Given the description of an element on the screen output the (x, y) to click on. 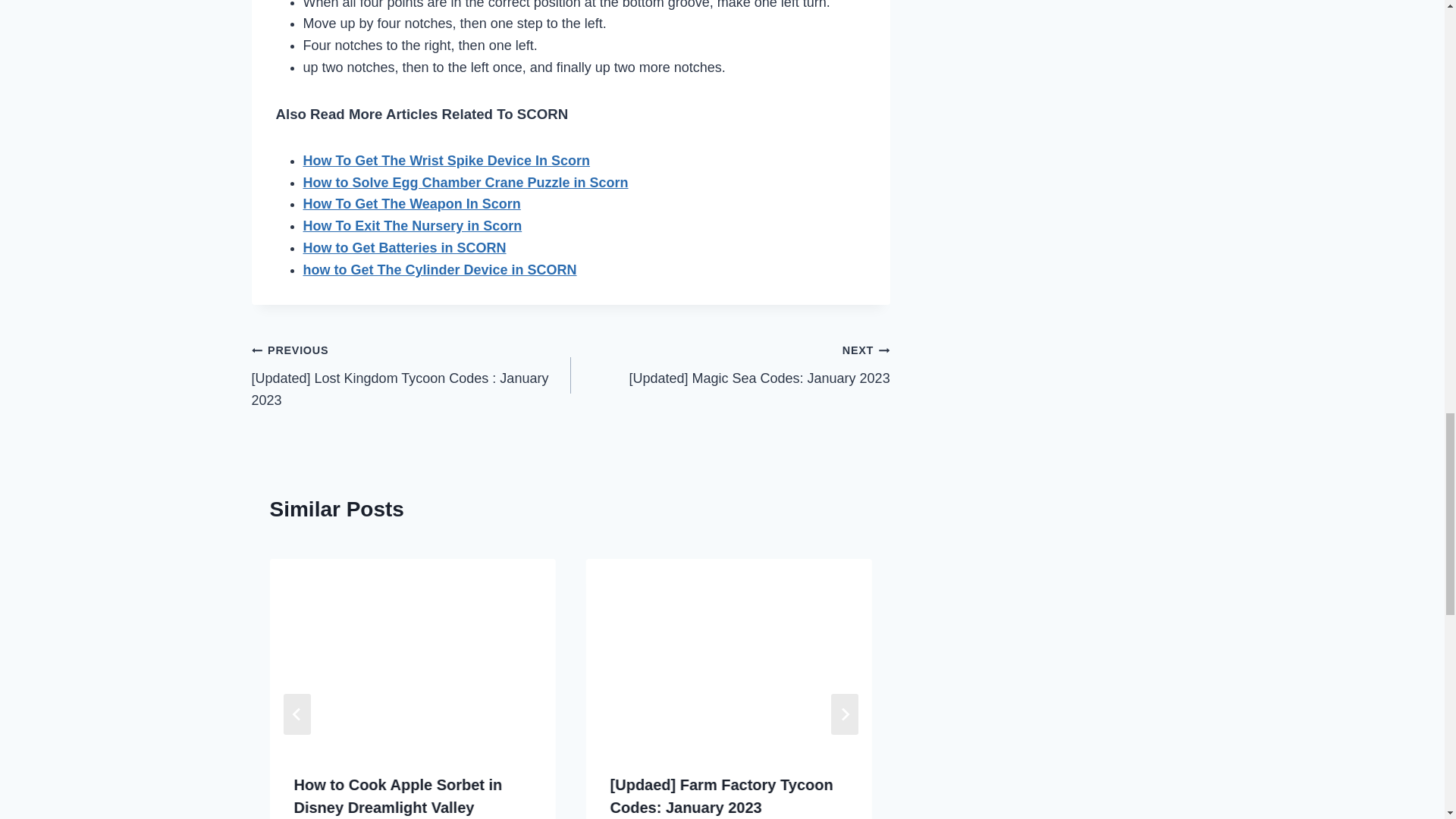
How To Exit The Nursery in Scorn (412, 225)
How To Get The Wrist Spike Device In Scorn (445, 160)
How To Get The Weapon In Scorn (411, 203)
How to Get Batteries in SCORN (404, 247)
How to Solve Egg Chamber Crane Puzzle in Scorn (465, 181)
how to Get The Cylinder Device in SCORN (439, 269)
